Given the description of an element on the screen output the (x, y) to click on. 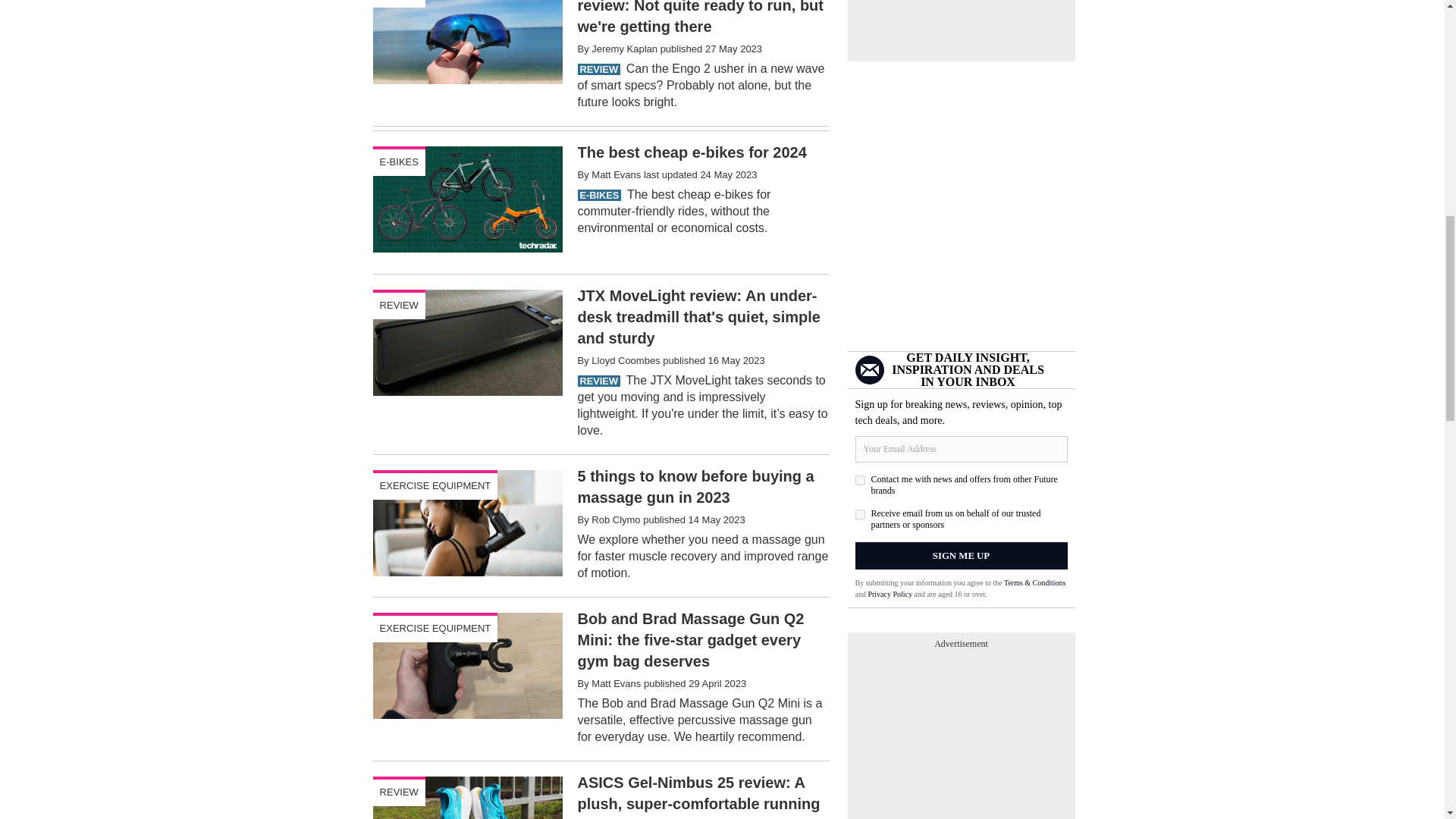
Sign me up (961, 555)
on (860, 480)
on (860, 514)
